Given the description of an element on the screen output the (x, y) to click on. 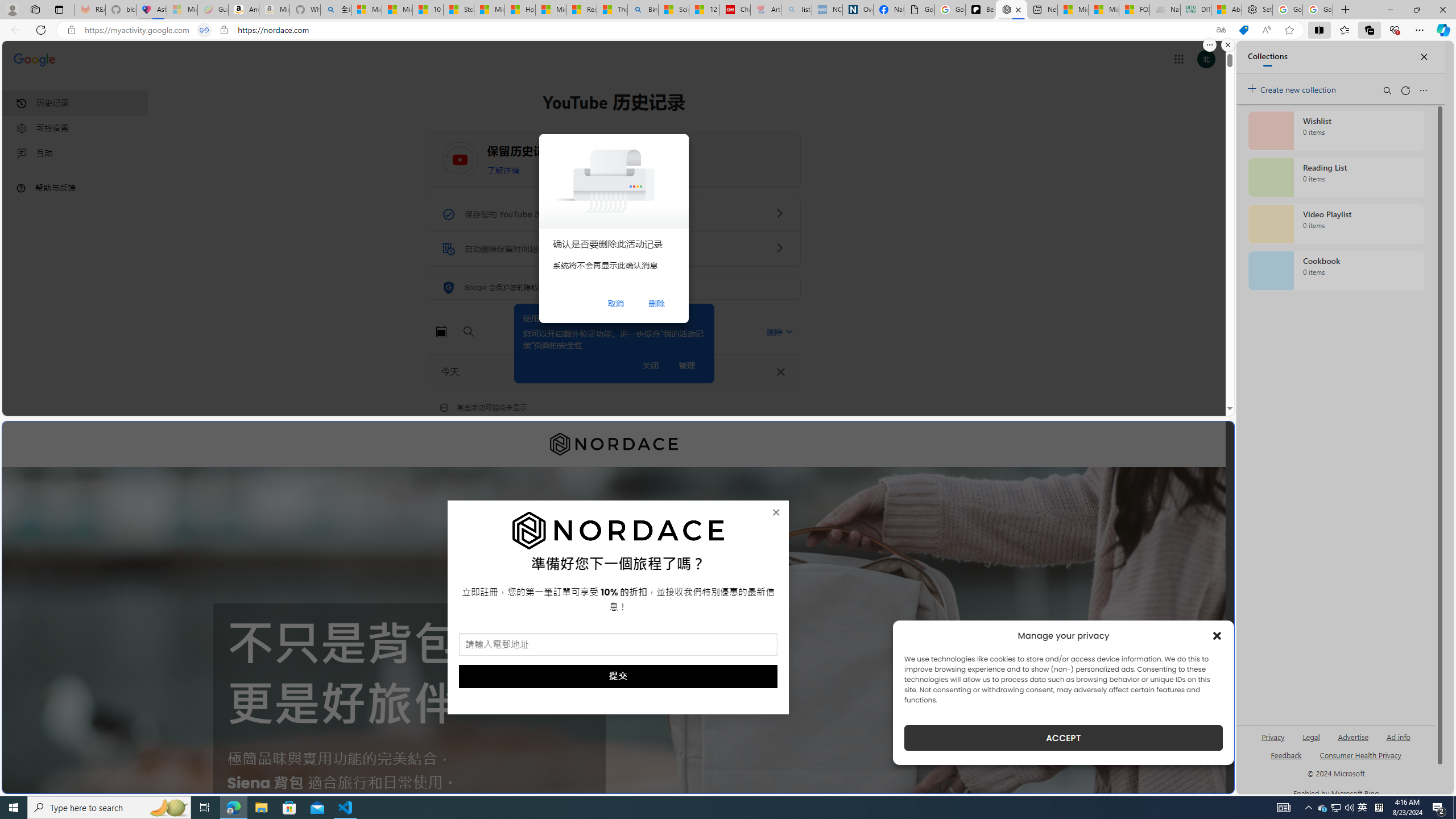
Show translate options (1220, 29)
Google Analytics Opt-out Browser Add-on Download Page (919, 9)
How I Got Rid of Microsoft Edge's Unnecessary Features (519, 9)
Class: cmplz-close (1217, 635)
Recipes - MSN (581, 9)
Tabs in split screen (203, 29)
